Given the description of an element on the screen output the (x, y) to click on. 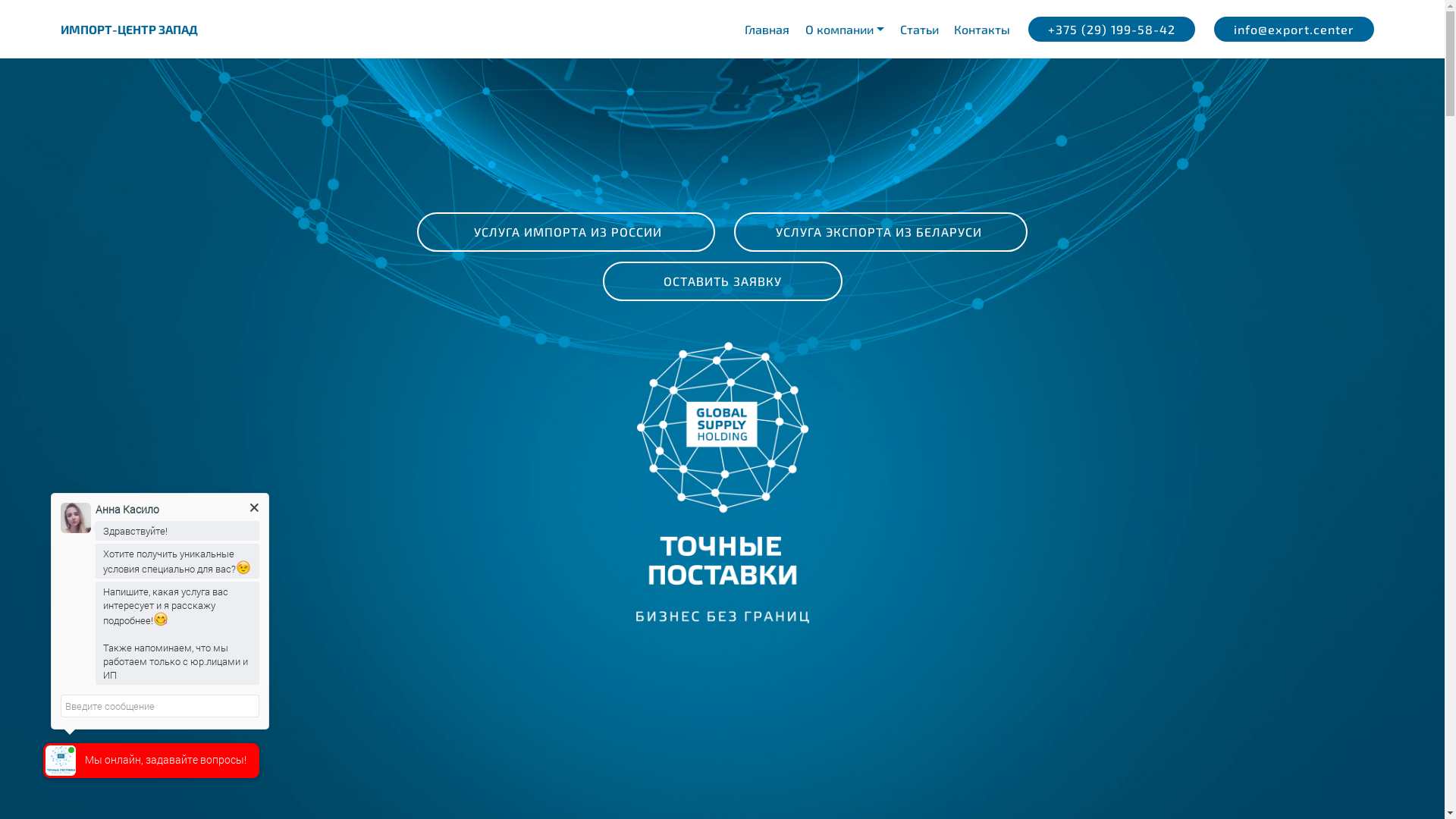
info@export.center Element type: text (1294, 28)
+375 (29) 199-58-42 Element type: text (1111, 28)
